Given the description of an element on the screen output the (x, y) to click on. 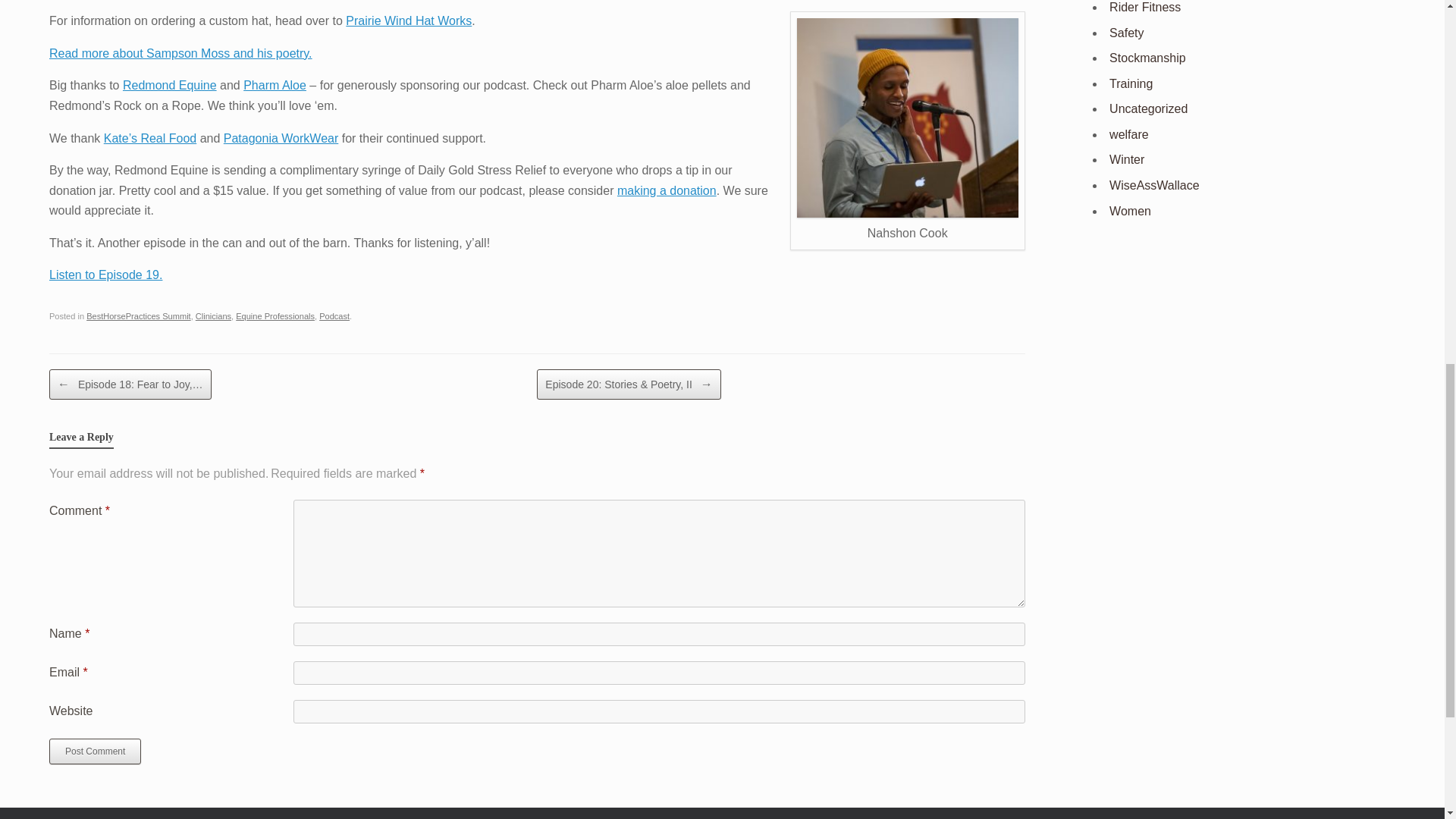
Equine Professionals (274, 316)
Pharm Aloe (274, 84)
Clinicians (213, 316)
making a donation (666, 190)
Patagonia WorkWear (280, 137)
Podcast (333, 316)
Post Comment (95, 751)
Listen to Episode 19. (105, 274)
Post Comment (95, 751)
Prairie Wind Hat Works (408, 20)
Redmond Equine (169, 84)
BestHorsePractices Summit (137, 316)
Read more about Sampson Moss and his poetry. (181, 52)
